Given the description of an element on the screen output the (x, y) to click on. 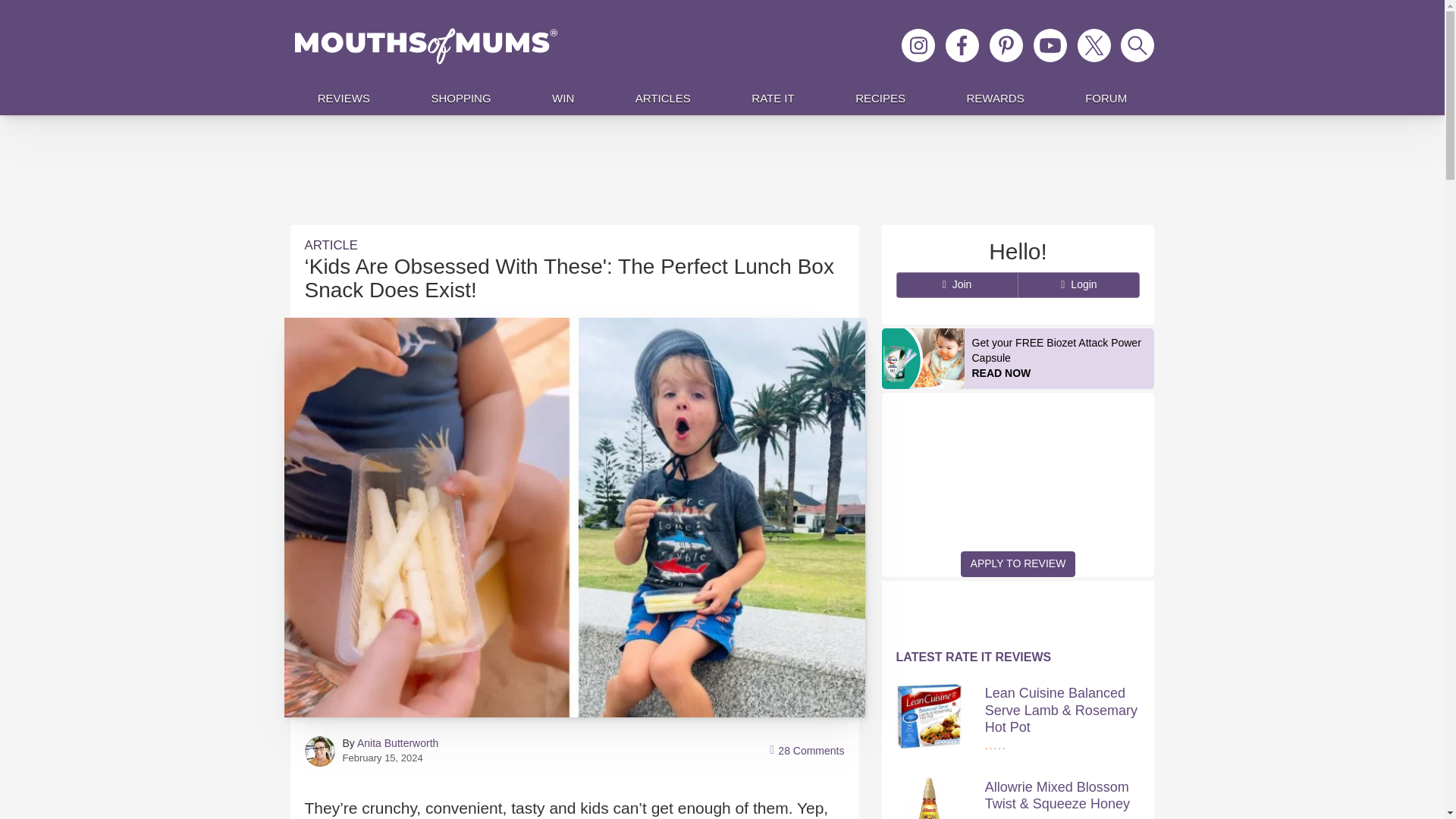
Search MoMs (1137, 45)
Opens a new window (1006, 45)
FORUM (1106, 98)
Search MoMs (1137, 45)
REVIEWS (343, 98)
MoMs YouTube Channel (1050, 45)
Anita Butterworth (397, 743)
RATE IT (772, 98)
REWARDS (995, 98)
WIN (563, 98)
